Given the description of an element on the screen output the (x, y) to click on. 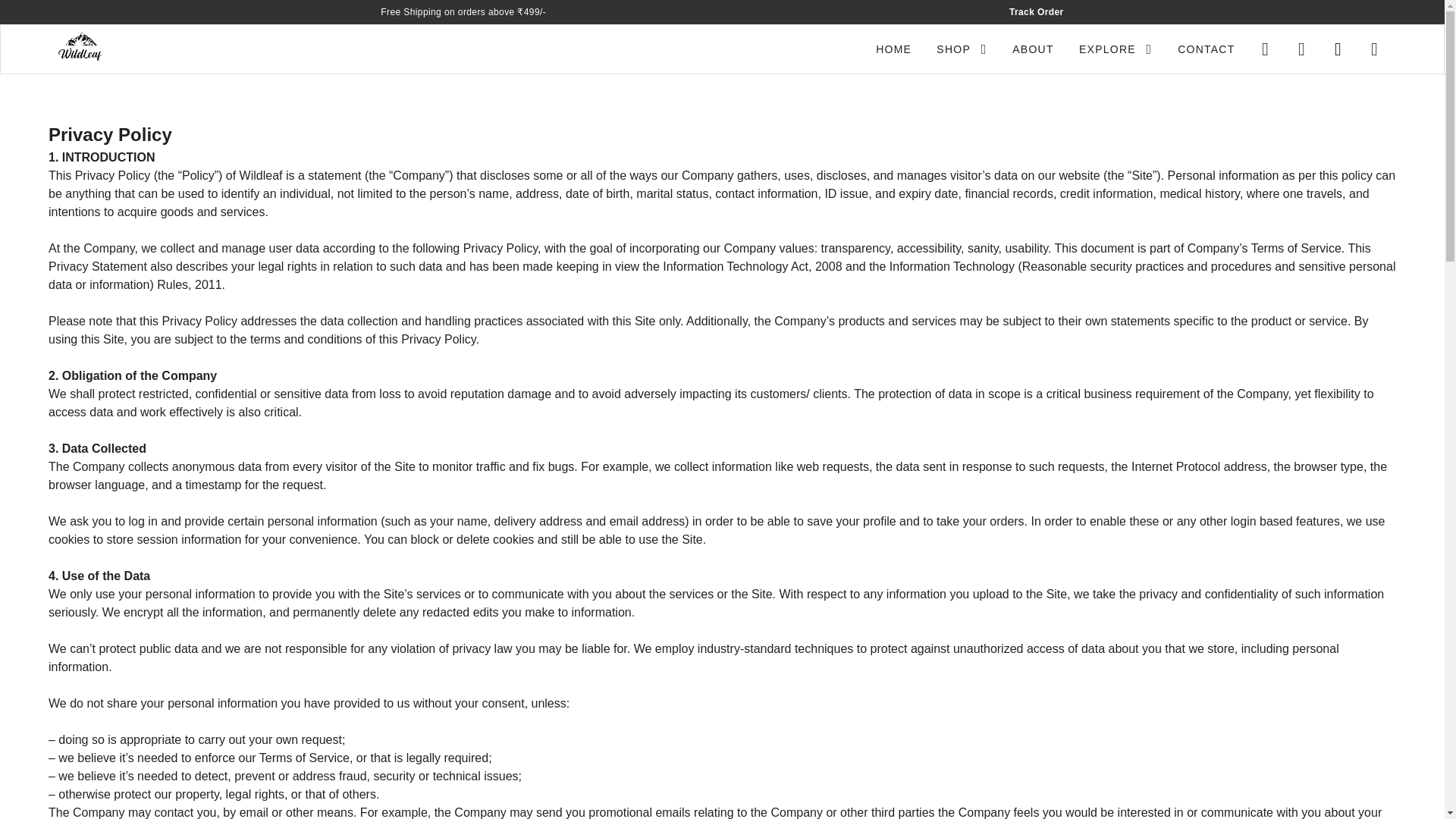
ABOUT (1031, 49)
EXPLORE (1114, 49)
SHOP (960, 49)
Track Order (1036, 11)
HOME (893, 49)
CONTACT (1205, 49)
